Given the description of an element on the screen output the (x, y) to click on. 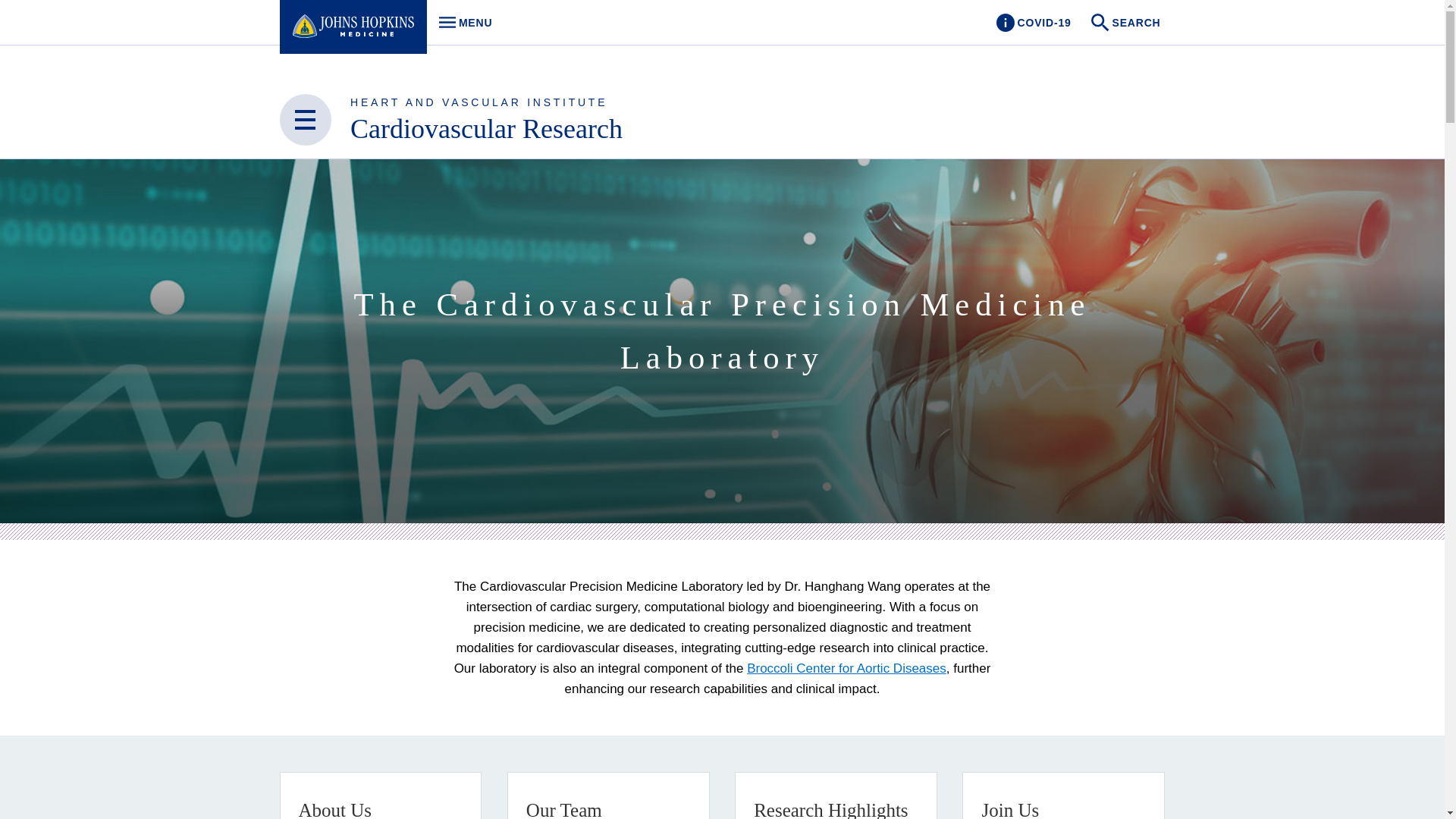
COVID-19 (1033, 22)
HEART AND VASCULAR INSTITUTE (478, 102)
Close Main Menu (304, 119)
SEARCH (1126, 22)
Cardiovascular Research (461, 22)
